Given the description of an element on the screen output the (x, y) to click on. 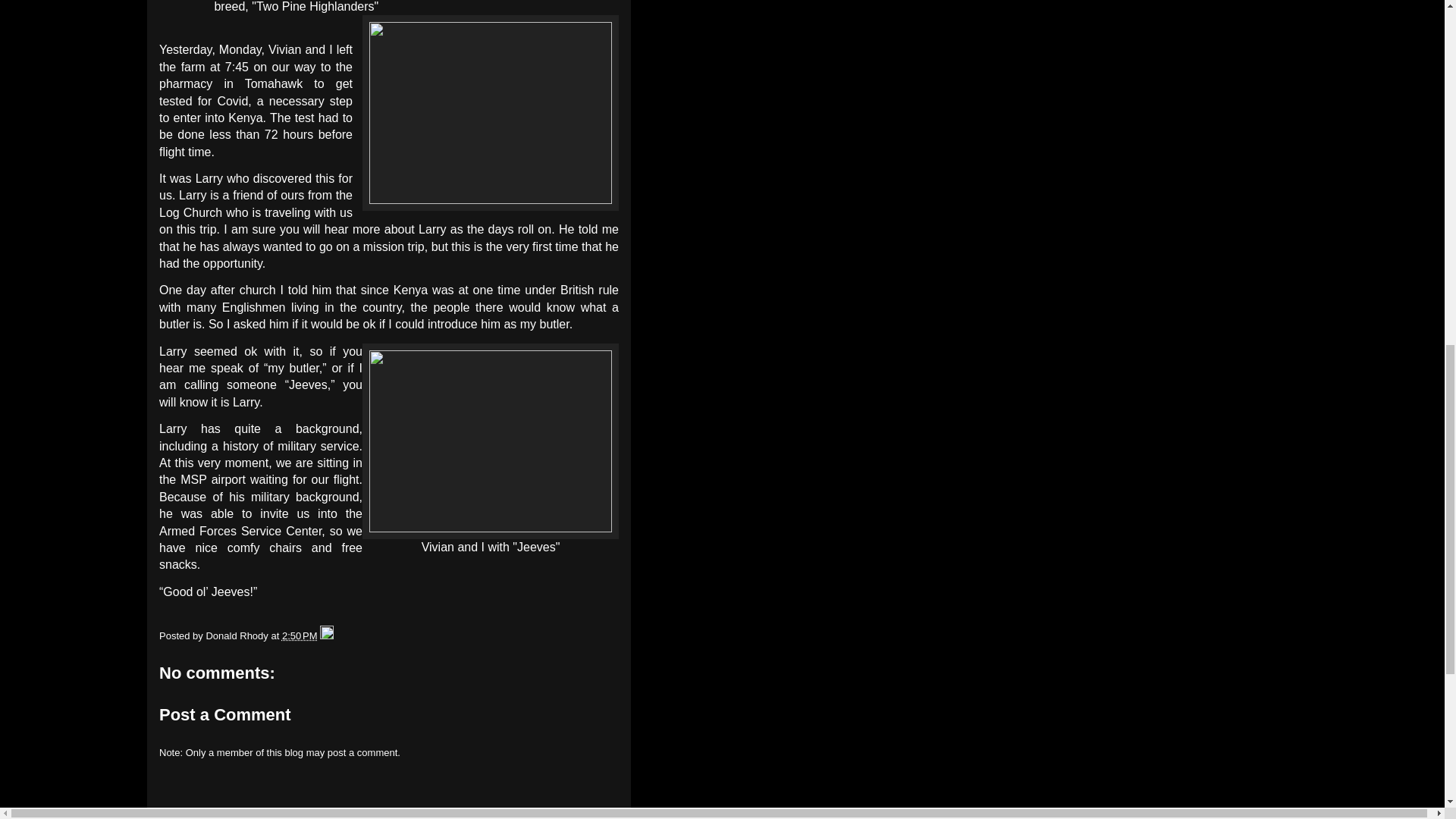
author profile (237, 635)
Edit Post (326, 635)
permanent link (299, 635)
Donald Rhody (237, 635)
